Given the description of an element on the screen output the (x, y) to click on. 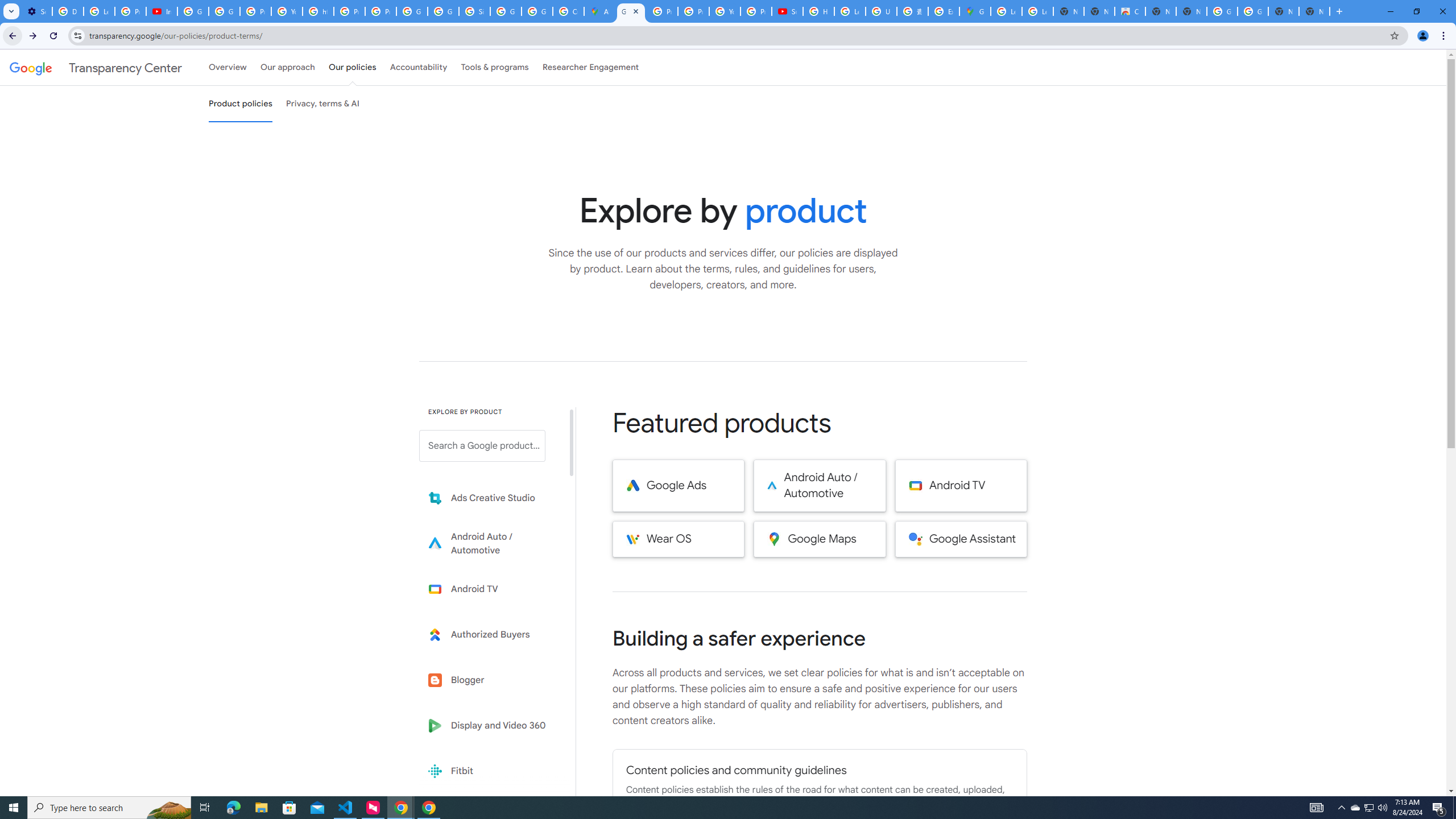
Transparency Center (95, 67)
Explore new street-level details - Google Maps Help (943, 11)
Learn more about Android Auto (490, 543)
Wear OS (678, 538)
Privacy Help Center - Policies Help (693, 11)
Google Images (1252, 11)
YouTube (724, 11)
Create your Google Account (568, 11)
Learn more about Android TV (490, 588)
Google Account Help (223, 11)
Google Images (1222, 11)
